Given the description of an element on the screen output the (x, y) to click on. 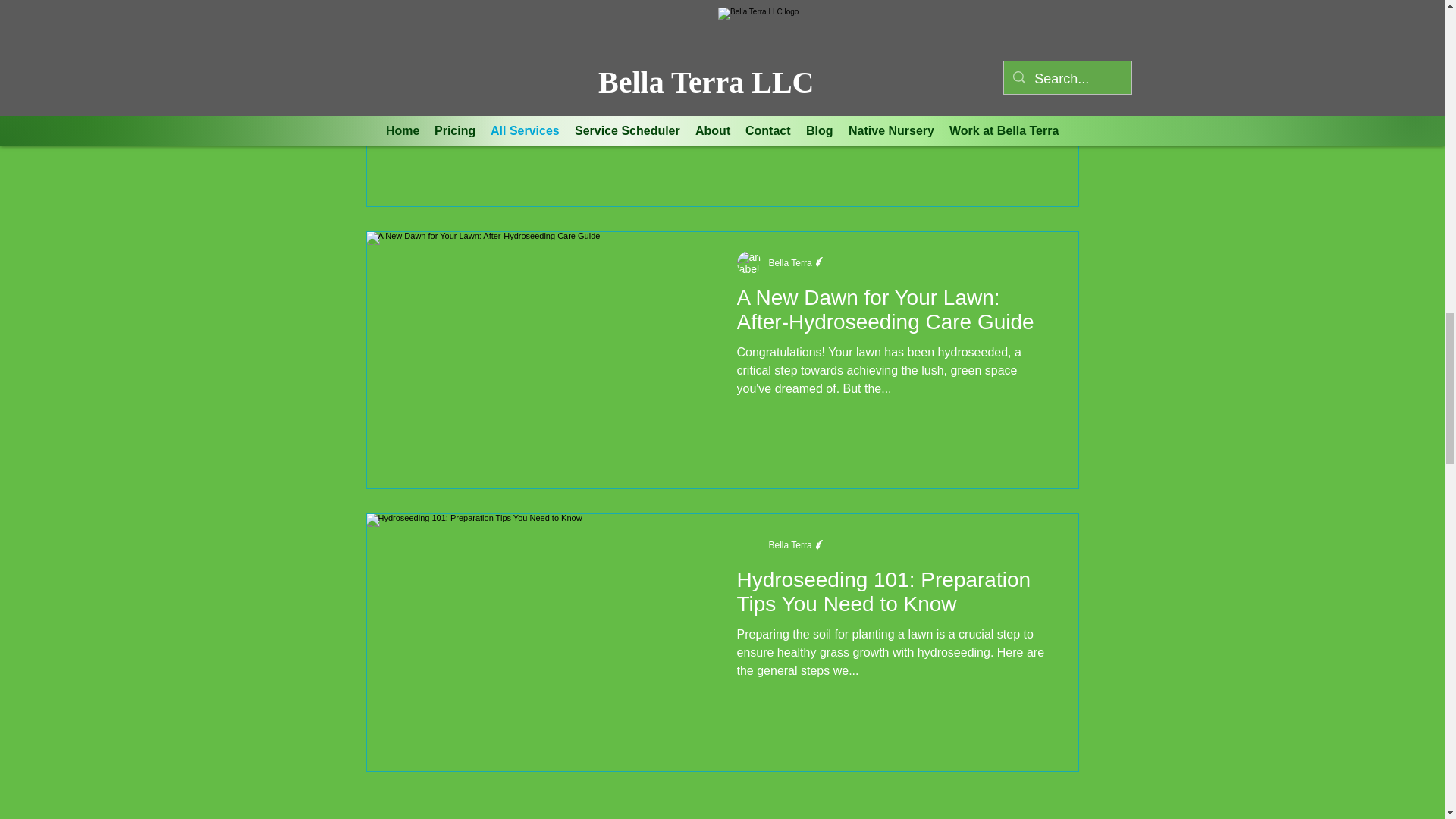
A New Dawn for Your Lawn: After-Hydroseeding Care Guide (893, 314)
Hydroseeding 101: Preparation Tips You Need to Know (893, 596)
Bella Terra (790, 544)
Bella Terra (790, 262)
